Given the description of an element on the screen output the (x, y) to click on. 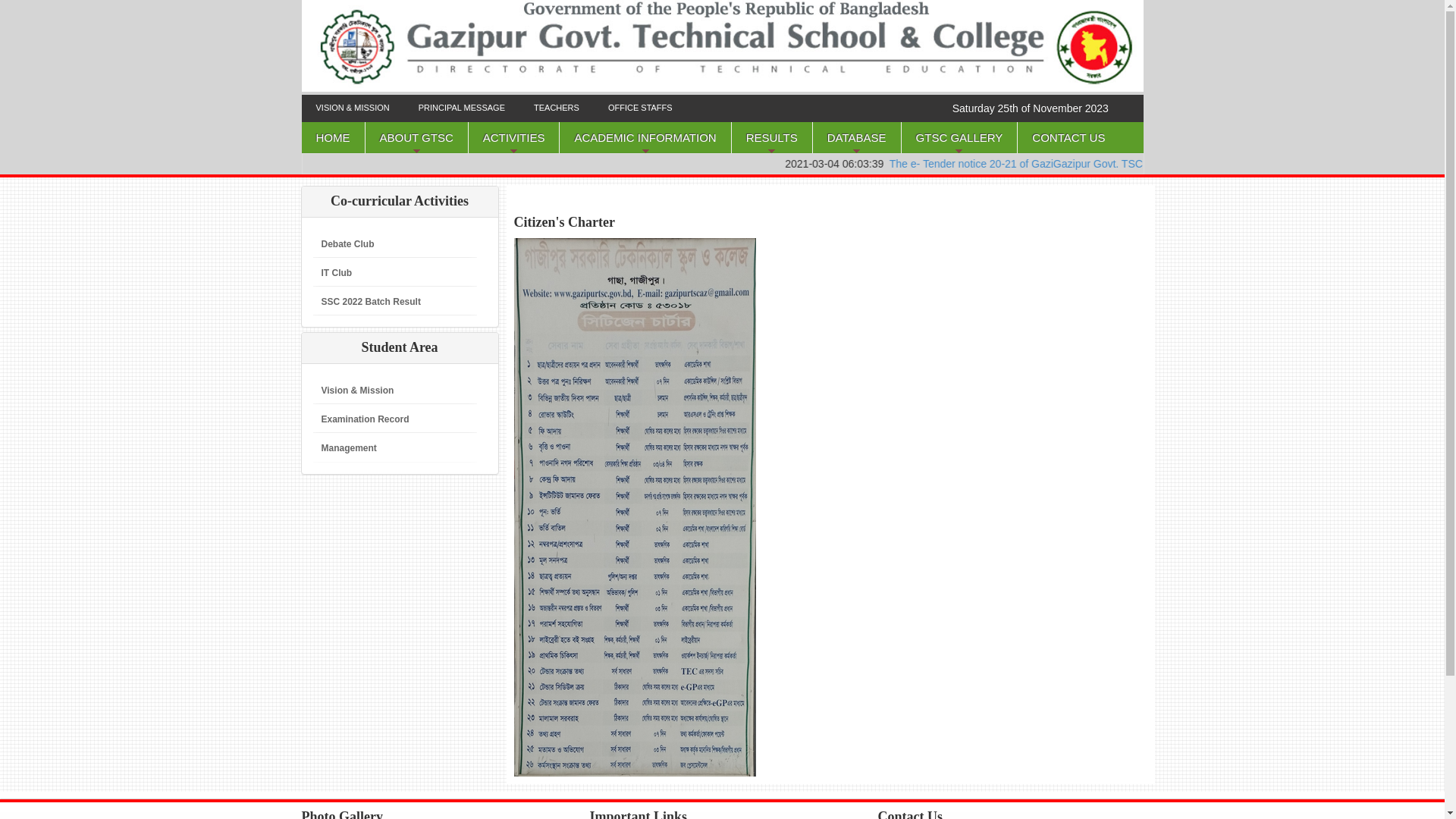
Vision & Mission Element type: text (357, 390)
OFFICE STAFFS Element type: text (640, 108)
RESULTS Element type: text (771, 137)
IT Club Element type: text (336, 272)
CONTACT US Element type: text (1068, 137)
PRINCIPAL MESSAGE Element type: text (461, 108)
HOME Element type: text (333, 137)
VISION & MISSION Element type: text (352, 108)
Debate Club Element type: text (347, 243)
ABOUT GTSC Element type: text (416, 137)
TEACHERS Element type: text (556, 108)
Management Element type: text (348, 447)
SSC 2022 Batch Result Element type: text (370, 301)
DATABASE Element type: text (856, 137)
GTSC GALLERY Element type: text (959, 137)
ACTIVITIES Element type: text (514, 137)
ACADEMIC INFORMATION Element type: text (645, 137)
Examination Record Element type: text (365, 419)
